Given the description of an element on the screen output the (x, y) to click on. 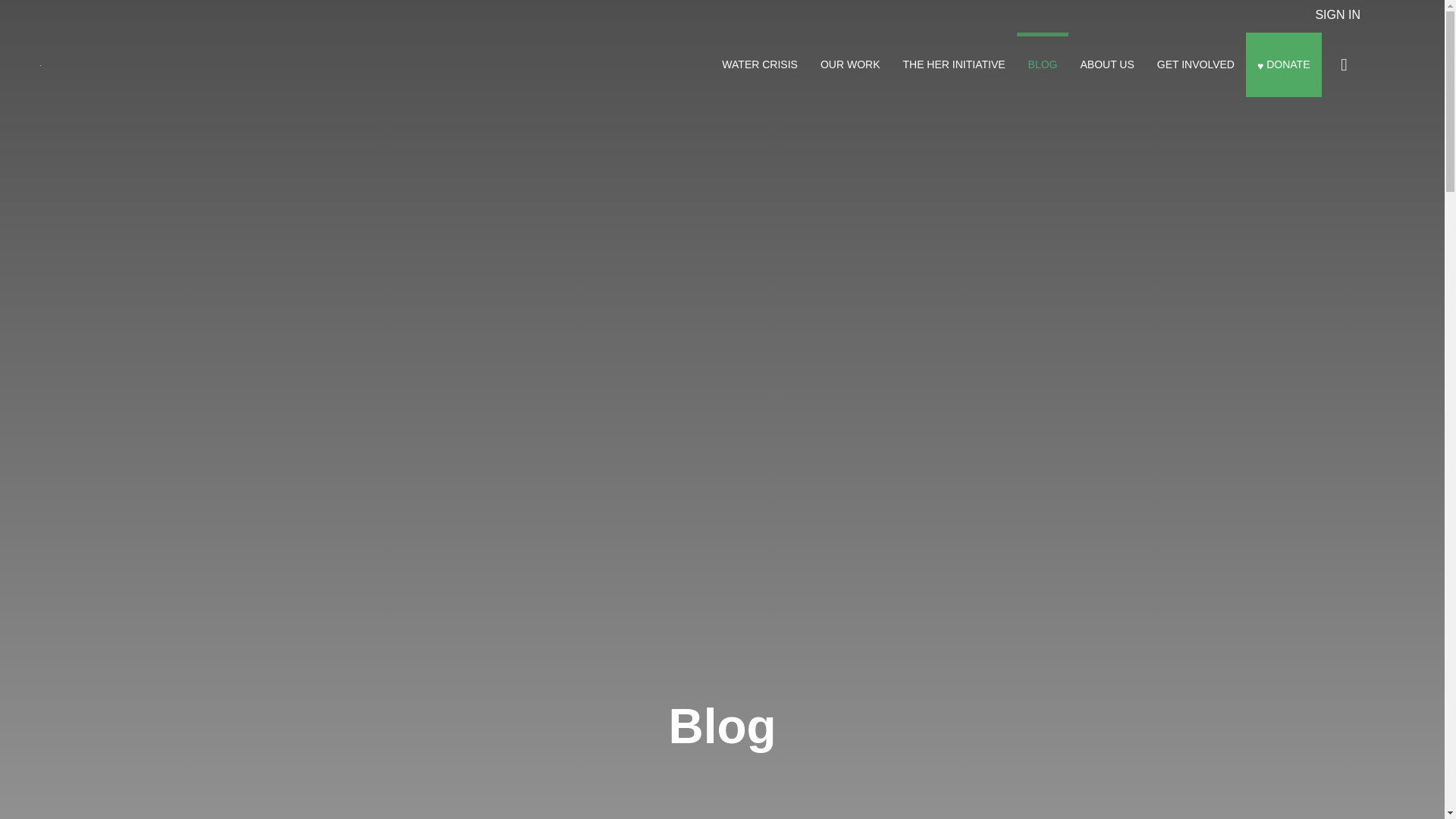
SIGN IN (1337, 14)
DONATE (1284, 63)
GET INVOLVED (1195, 63)
ABOUT US (1106, 63)
Go (1343, 64)
WATER CRISIS (759, 63)
THE HER INITIATIVE (953, 63)
OUR WORK (850, 63)
